Given the description of an element on the screen output the (x, y) to click on. 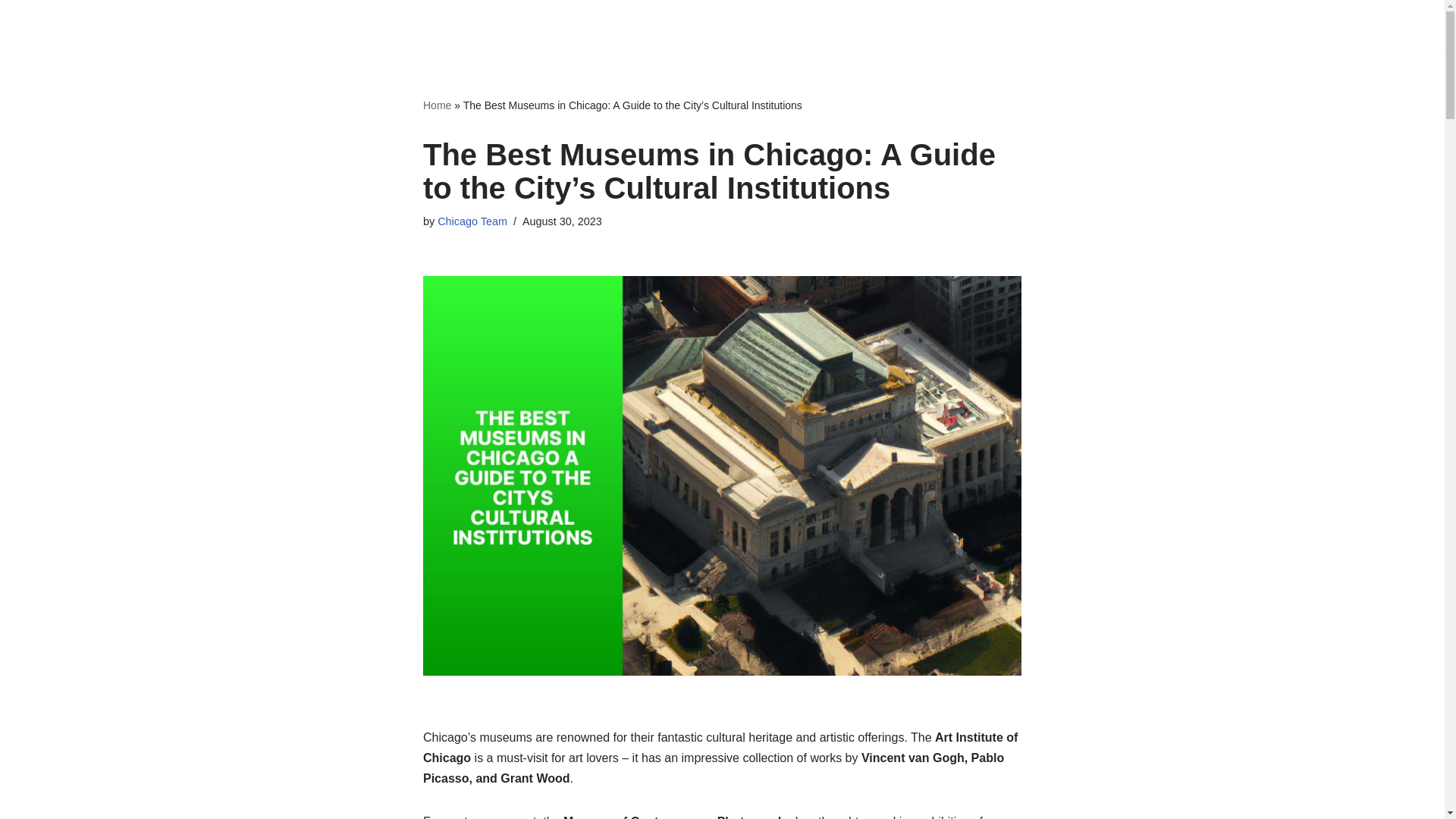
Chicago Team (472, 221)
Home (437, 105)
Posts by Chicago Team (472, 221)
Skip to content (11, 31)
